Given the description of an element on the screen output the (x, y) to click on. 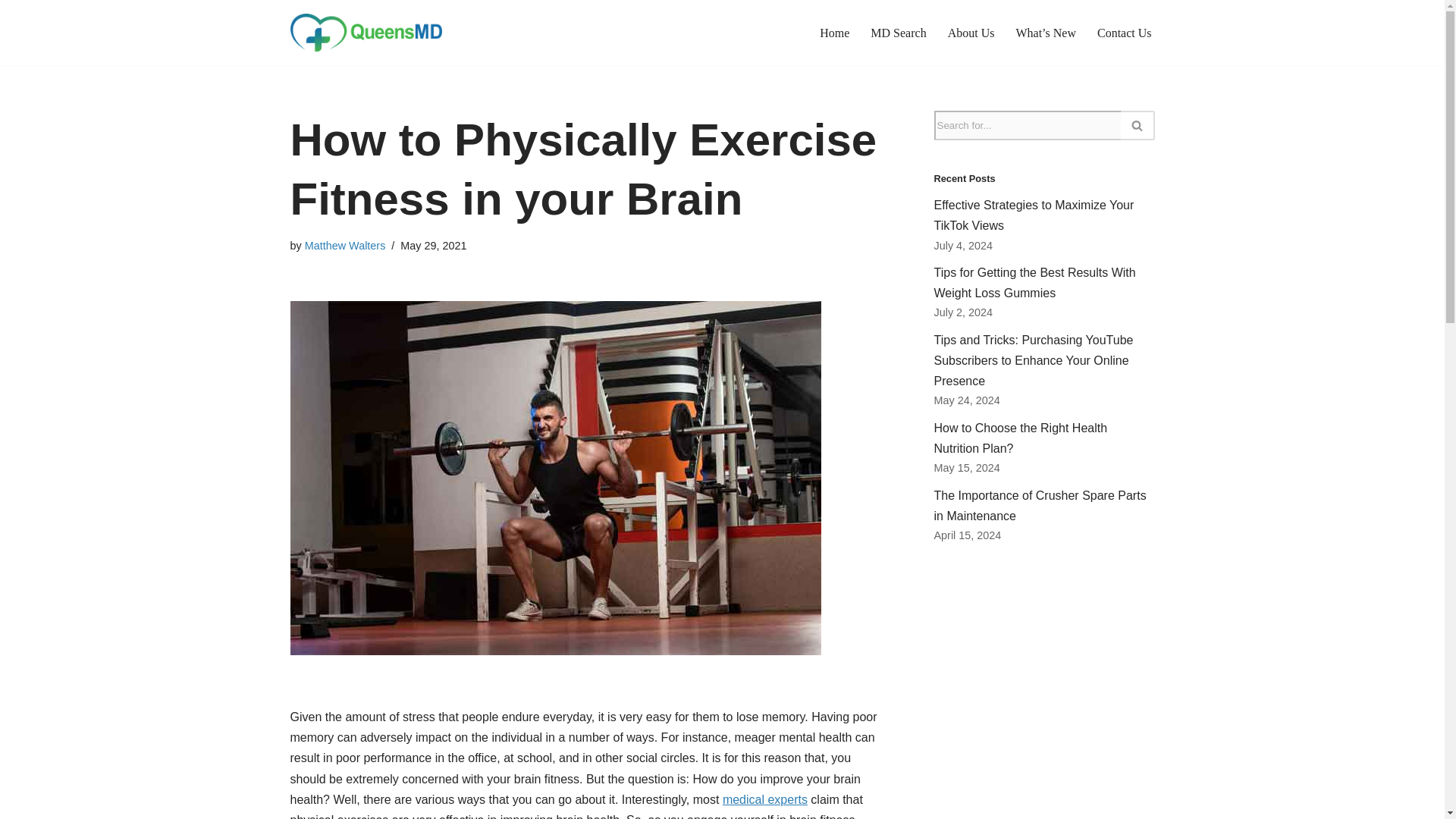
About Us (970, 32)
Posts by Matthew Walters (344, 245)
MD Search (898, 32)
Contact Us (1124, 32)
Matthew Walters (344, 245)
Skip to content (11, 31)
Effective Strategies to Maximize Your TikTok Views (1034, 215)
Home (833, 32)
The Importance of Crusher Spare Parts in Maintenance (1040, 505)
medical experts (765, 799)
Tips for Getting the Best Results With Weight Loss Gummies (1034, 282)
How to Choose the Right Health Nutrition Plan? (1021, 438)
